Given the description of an element on the screen output the (x, y) to click on. 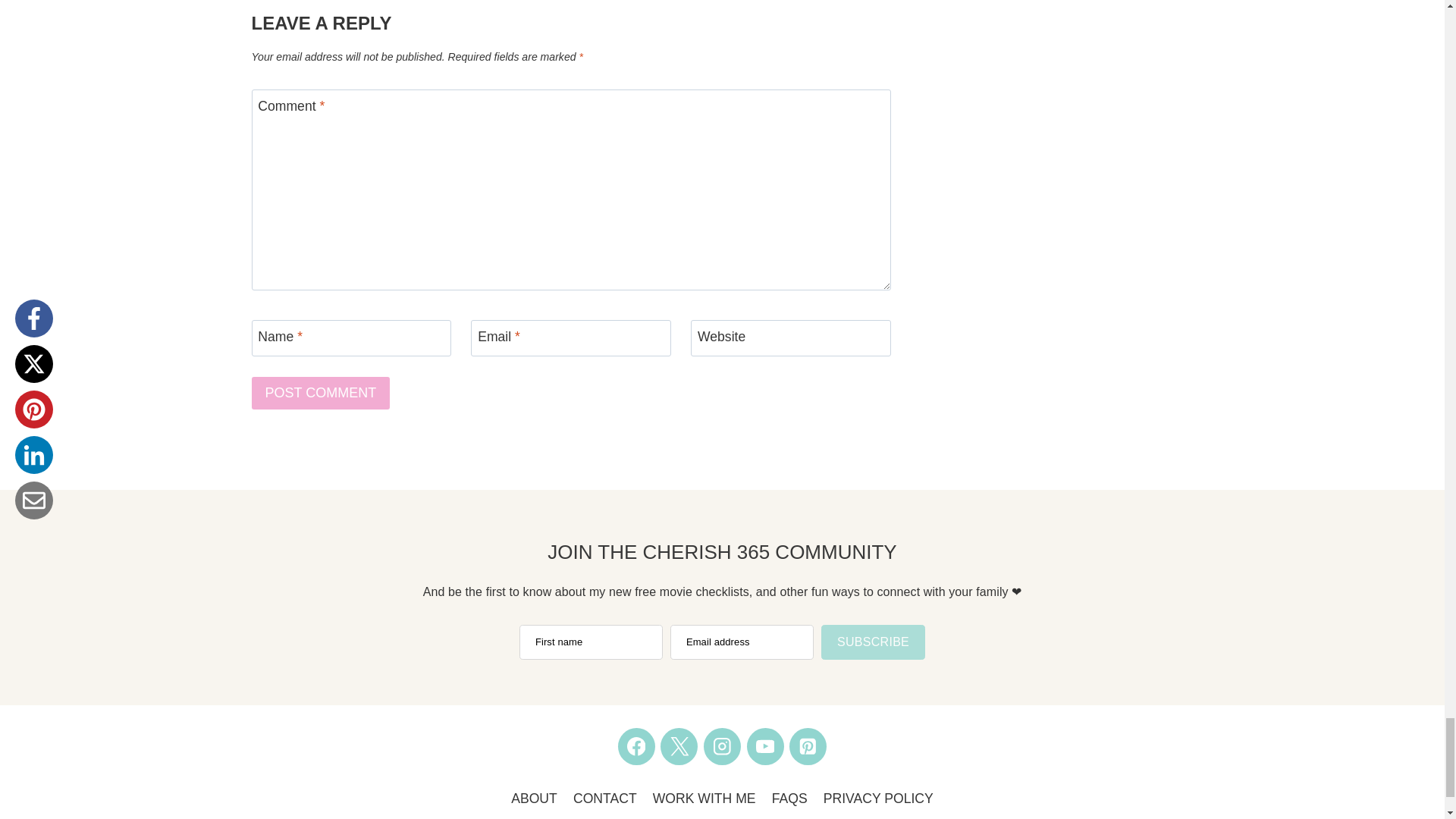
Post Comment (320, 392)
